Given the description of an element on the screen output the (x, y) to click on. 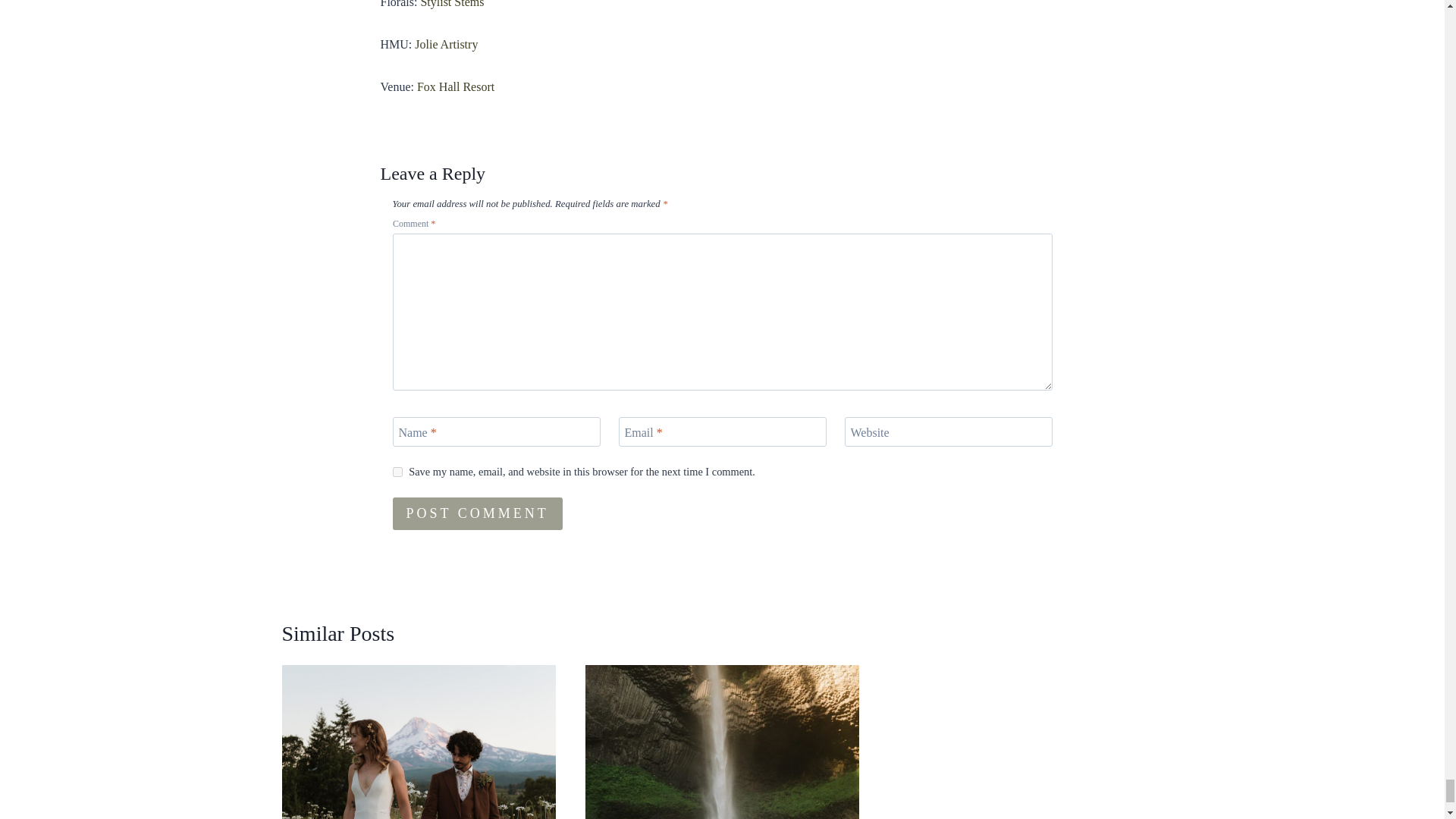
Fox Hall Resort (455, 86)
yes (398, 471)
Post Comment (477, 513)
Post Comment (477, 513)
Stylist Stems (451, 4)
Jolie Artistry (445, 43)
